Given the description of an element on the screen output the (x, y) to click on. 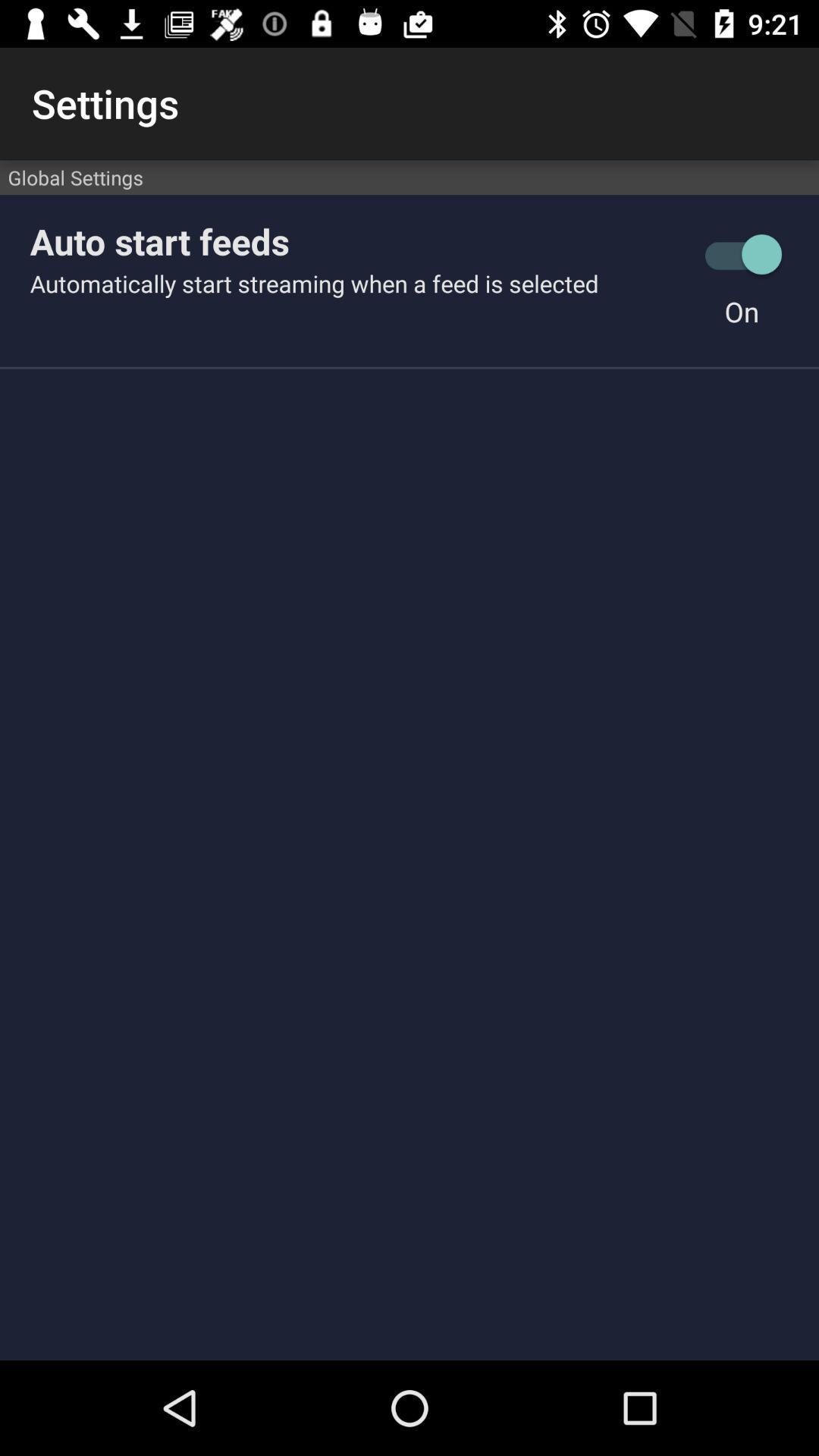
launch item above auto start feeds (409, 177)
